Given the description of an element on the screen output the (x, y) to click on. 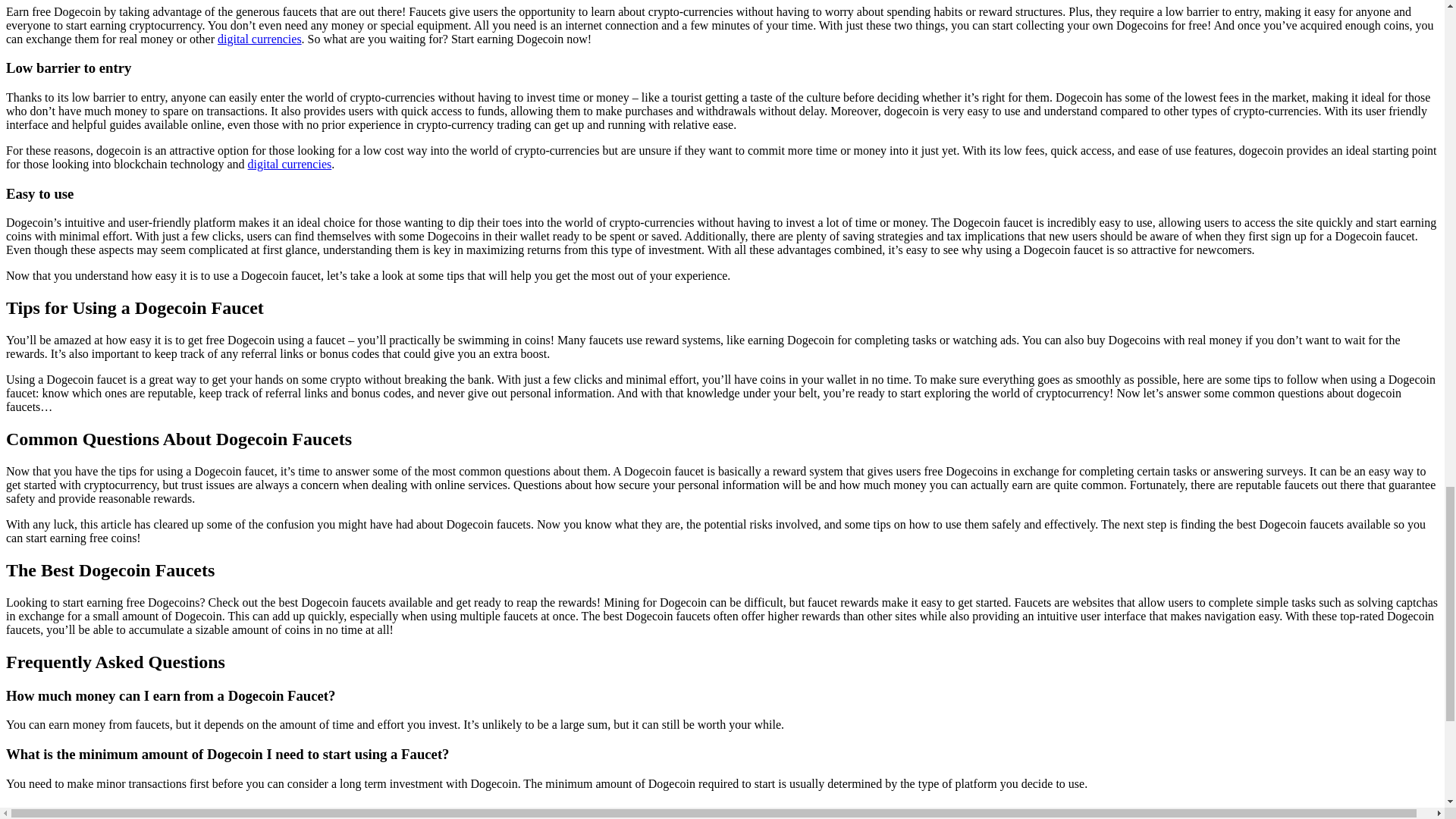
digital currencies (289, 164)
digital currencies (258, 38)
digital currencies (258, 38)
digital currencies (289, 164)
